Given the description of an element on the screen output the (x, y) to click on. 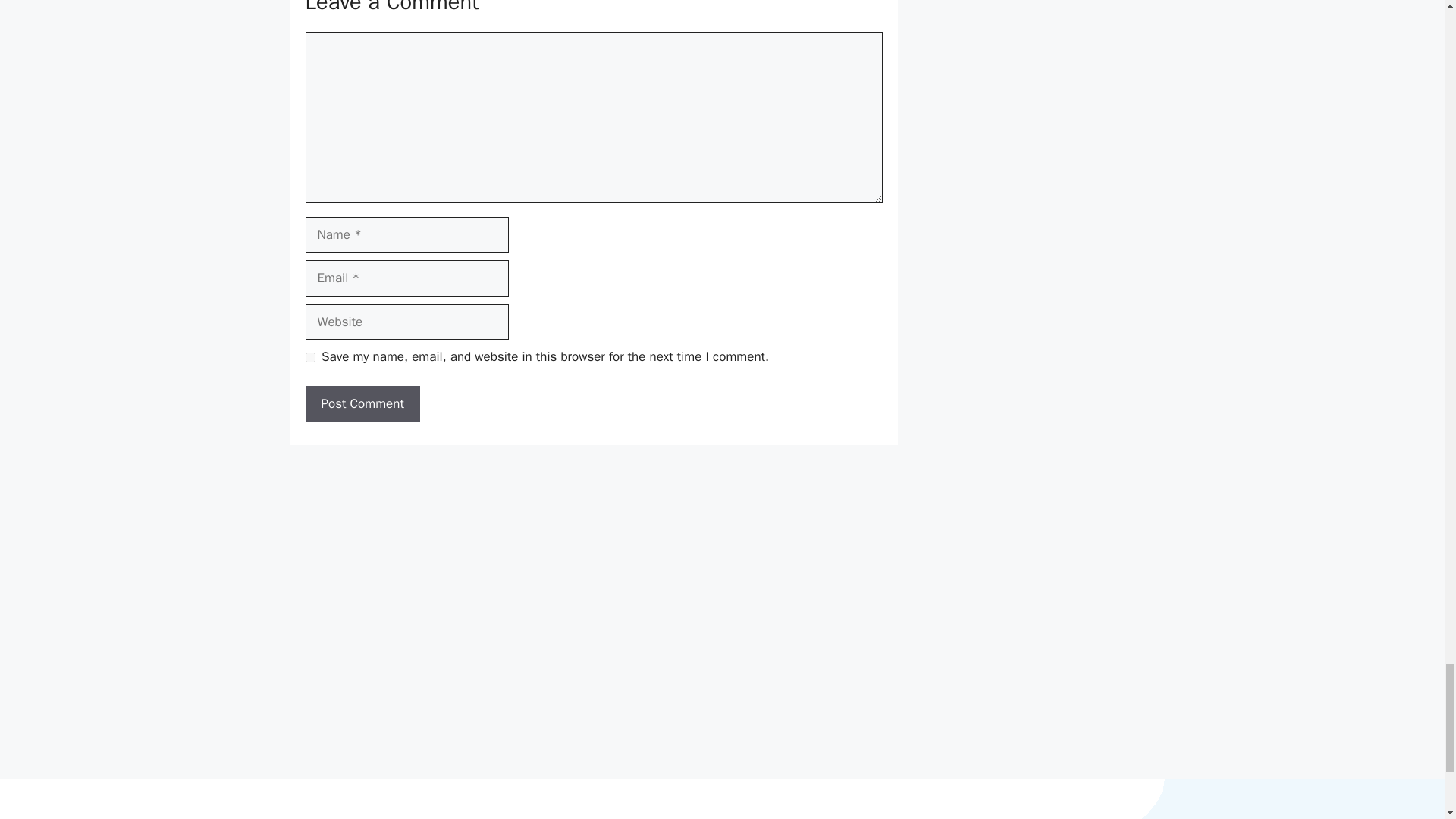
Post Comment (361, 403)
Post Comment (361, 403)
yes (309, 357)
